Given the description of an element on the screen output the (x, y) to click on. 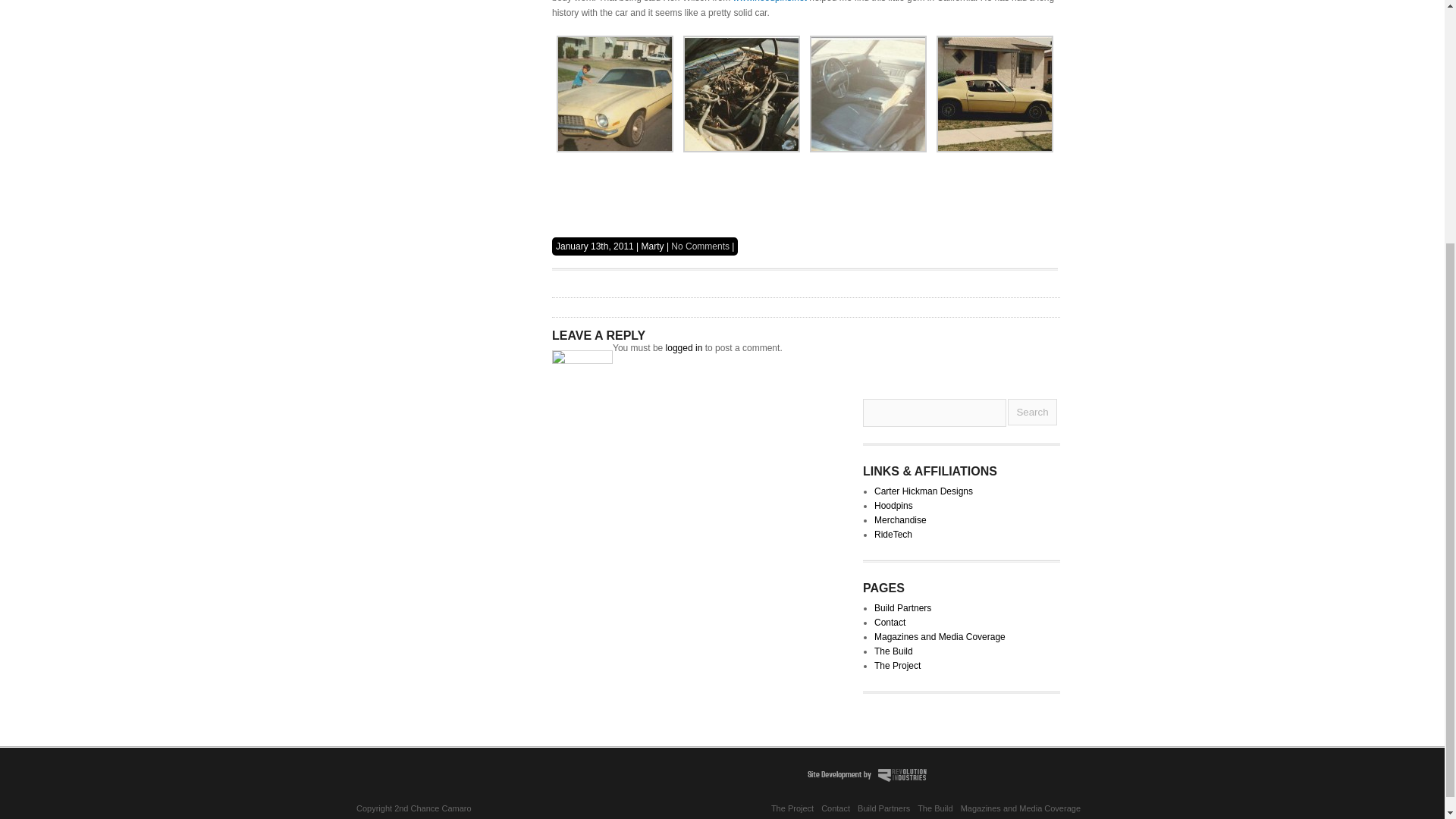
Magazines and Media Coverage (940, 636)
Magazines and Media Coverage (1020, 808)
Carter Hickman Designs (923, 491)
Hoodpins (893, 505)
The Build (934, 808)
The Project (897, 665)
RideTech (893, 534)
Build Partners (883, 808)
The Project (792, 808)
Contact (890, 622)
2nd Chance Camaro T Shirts (900, 520)
RideTech (893, 534)
Search (1032, 411)
Build Partners (903, 607)
logged in (684, 347)
